Given the description of an element on the screen output the (x, y) to click on. 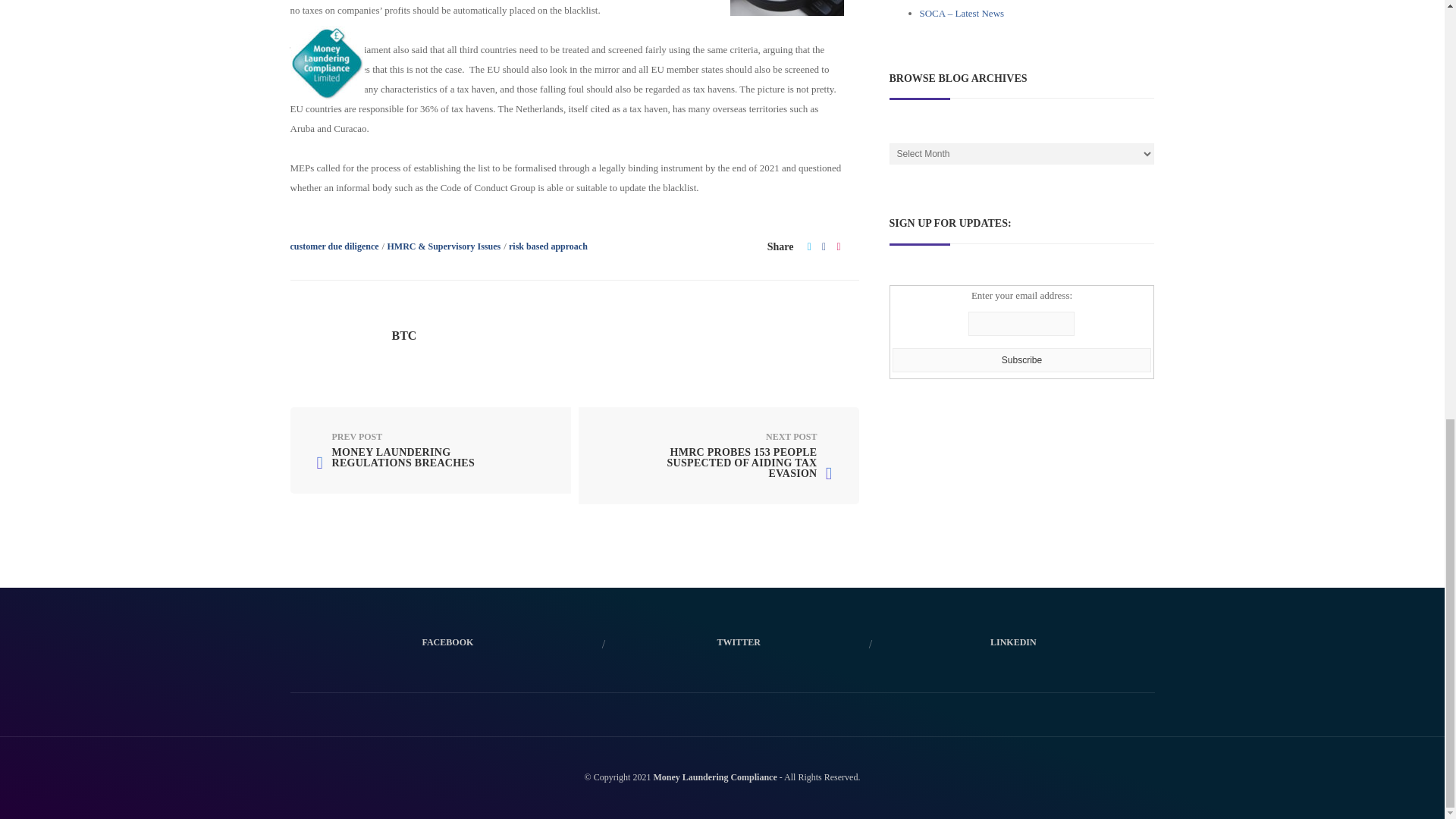
Subscribe (1021, 360)
